Given the description of an element on the screen output the (x, y) to click on. 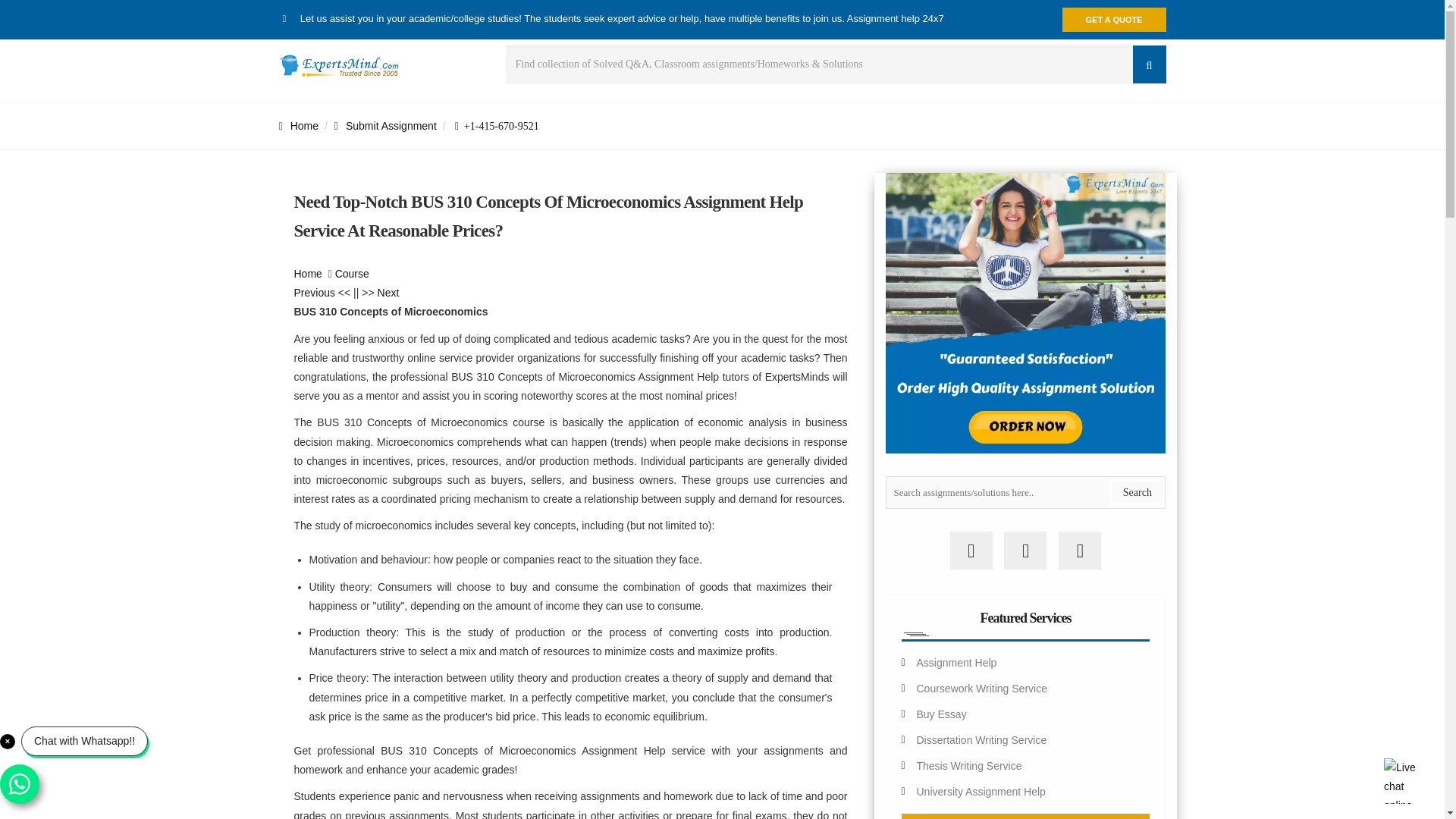
Assignment Help (955, 662)
Course (351, 273)
Live chat online (1406, 780)
Coursework Writing Service (980, 688)
GET A QUOTE (1114, 19)
Next (387, 292)
Thesis Writing Service (968, 766)
Search (1136, 492)
assignment help (298, 125)
Previous (314, 292)
